Given the description of an element on the screen output the (x, y) to click on. 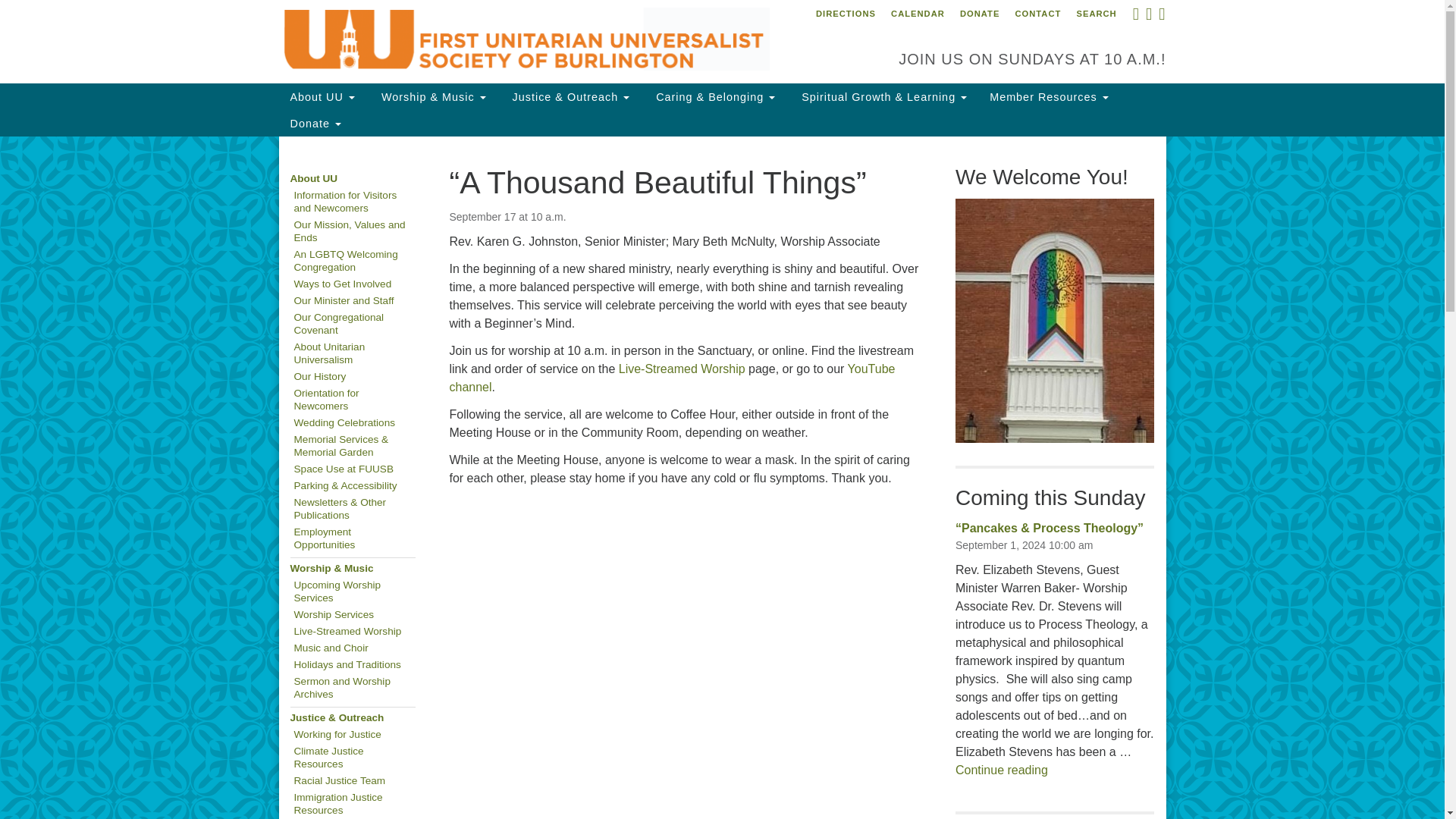
DONATE (979, 13)
CONTACT (1037, 13)
SEARCH (1095, 13)
TWITTER (1147, 16)
About UU (322, 96)
DIRECTIONS (845, 13)
CALENDAR (917, 13)
FACEBOOK (1134, 16)
About UU (322, 96)
